Given the description of an element on the screen output the (x, y) to click on. 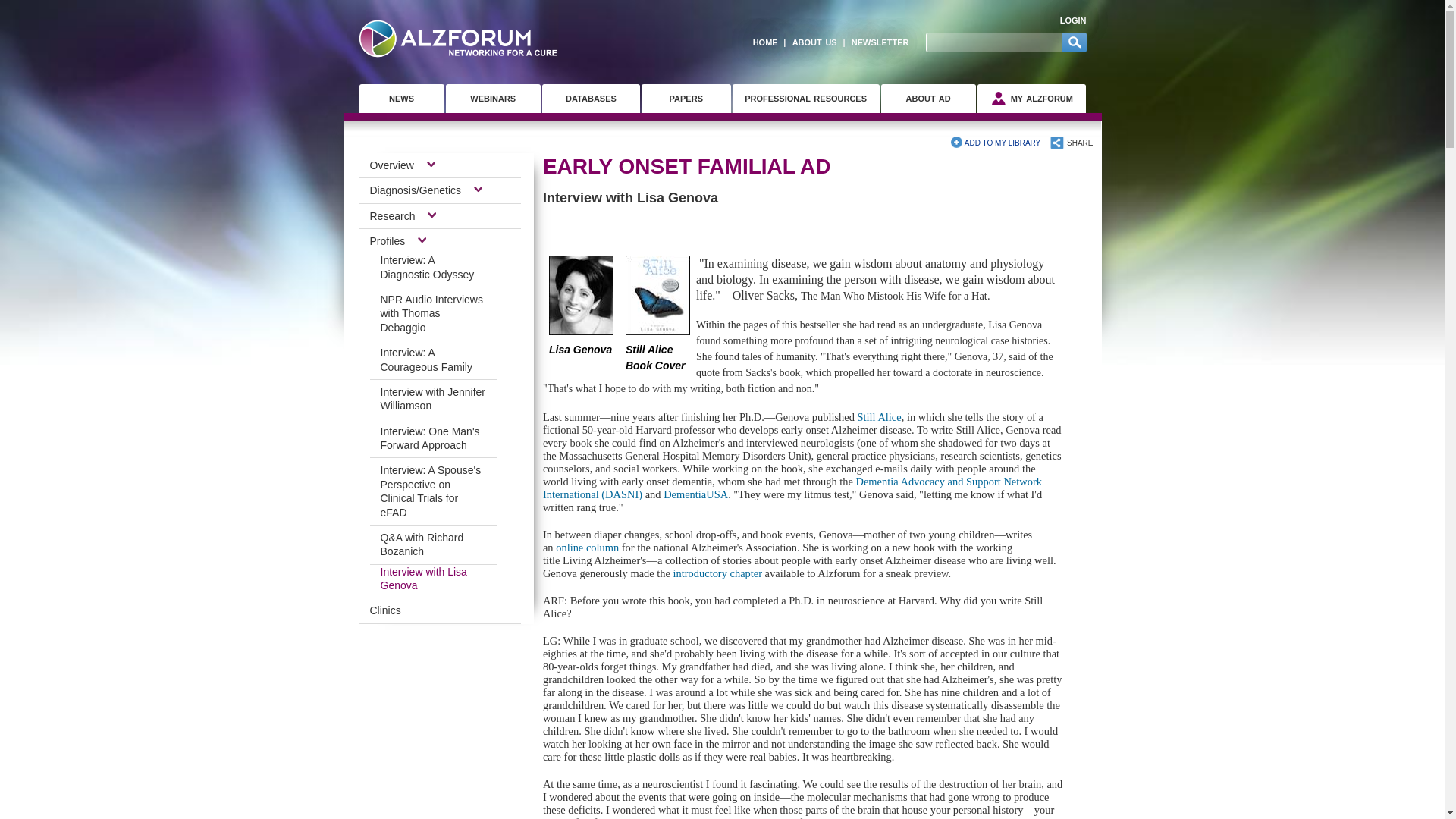
Still Alice (879, 417)
online column (587, 547)
ADD TO MY LIBRARY (995, 142)
Overview (397, 164)
The Landing page for All News (401, 98)
Add this post to my library (995, 142)
DementiaUSA (695, 494)
Home (457, 38)
Go (1073, 42)
introductory chapter (716, 573)
